Given the description of an element on the screen output the (x, y) to click on. 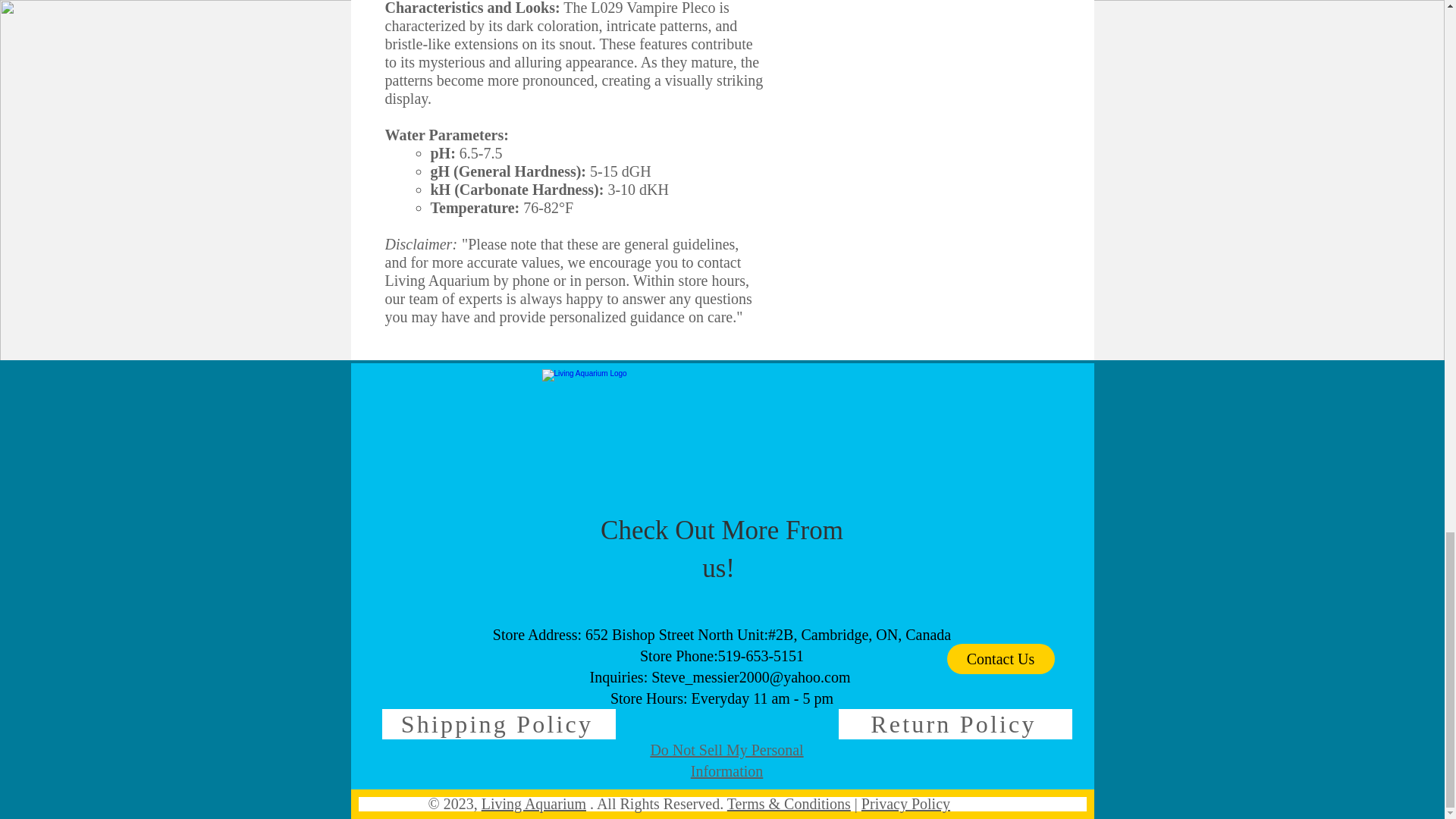
Return Policy (954, 724)
Do Not Sell My Personal Information (727, 760)
Privacy Policy (905, 803)
Shipping Policy (498, 724)
Living Aquarium Logo.jpeg (721, 440)
Contact Us (1000, 658)
Living Aquarium (533, 803)
